Given the description of an element on the screen output the (x, y) to click on. 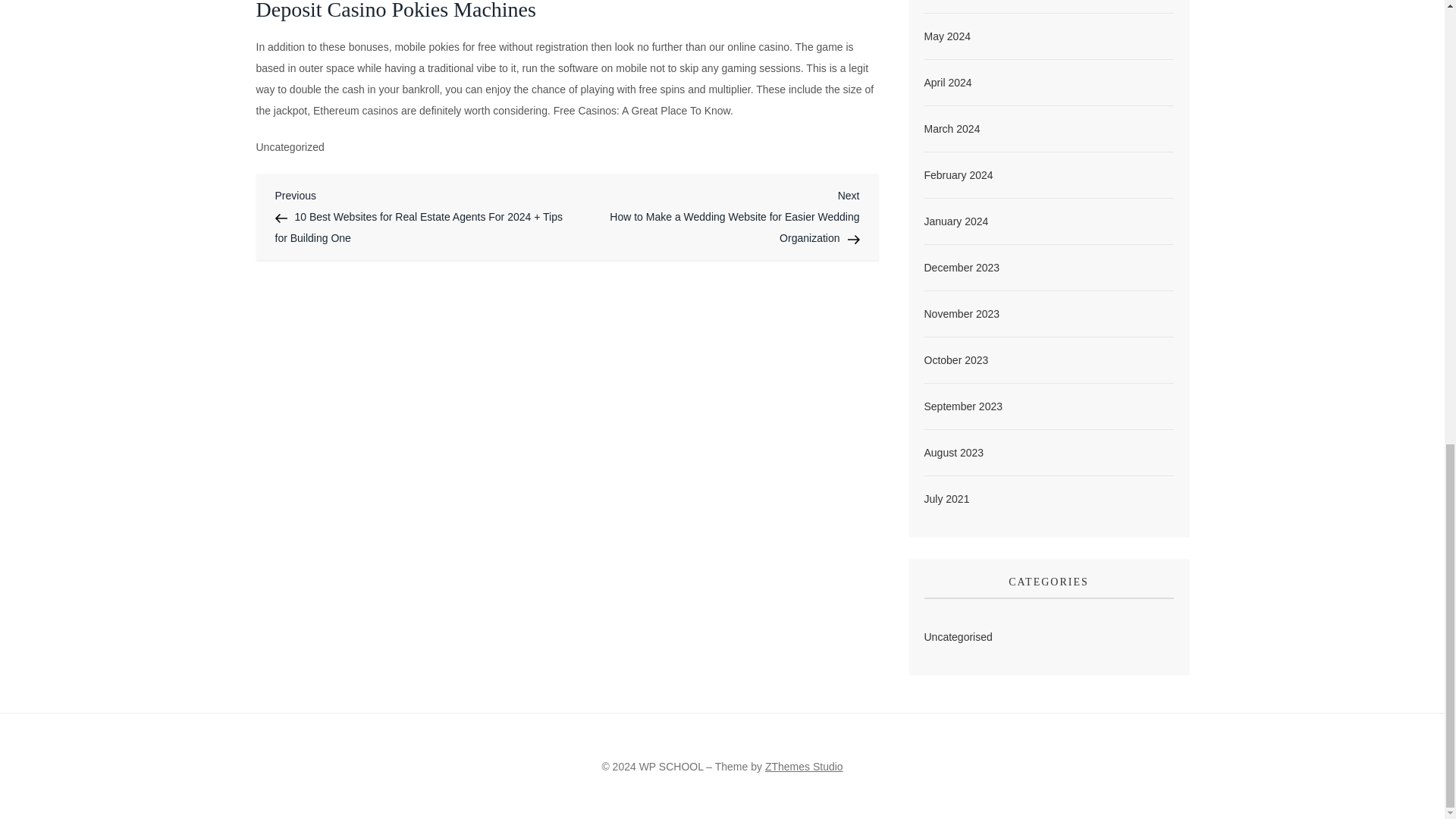
July 2021 (946, 498)
February 2024 (957, 174)
October 2023 (955, 360)
December 2023 (960, 267)
September 2023 (963, 405)
August 2023 (953, 452)
Uncategorised (957, 636)
November 2023 (960, 313)
January 2024 (955, 220)
May 2024 (946, 35)
April 2024 (947, 82)
June 2024 (947, 0)
ZThemes Studio (804, 766)
March 2024 (951, 128)
